Given the description of an element on the screen output the (x, y) to click on. 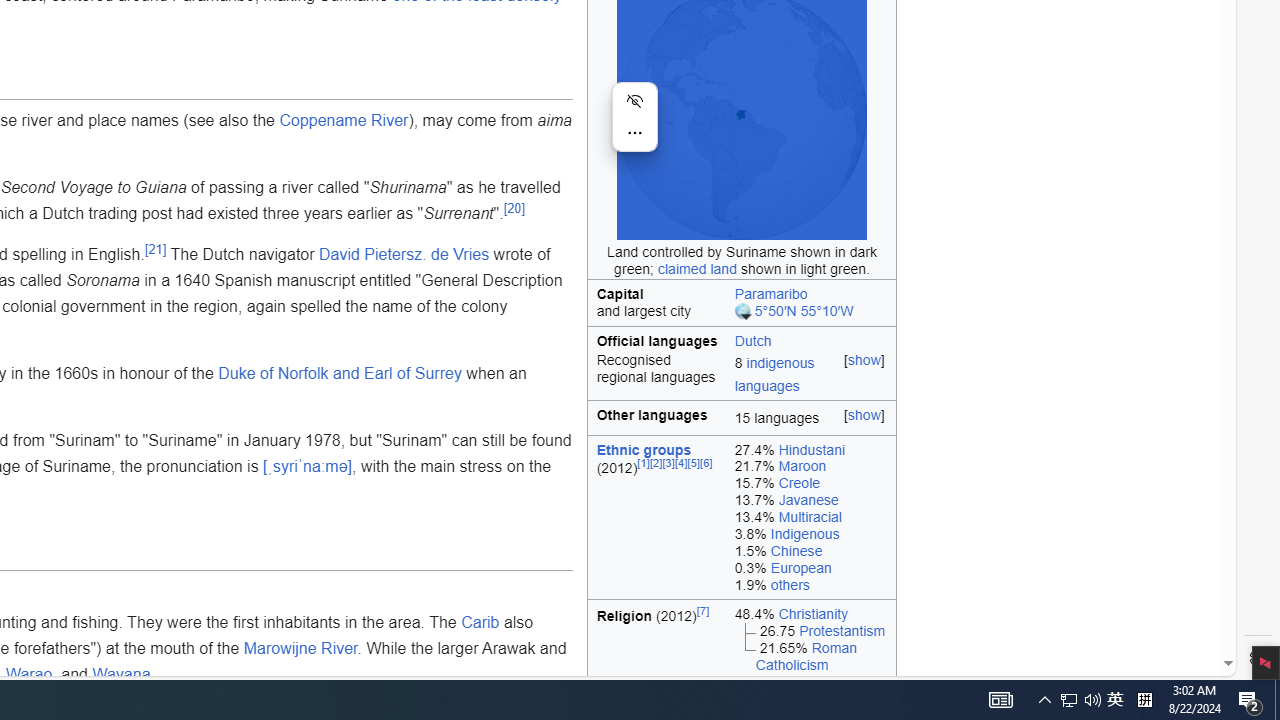
[20] (514, 208)
[show] 15 languages (811, 418)
13.7% Javanese (810, 500)
Warao (28, 674)
Protestantism (841, 630)
[5] (694, 463)
Capital and largest city (657, 302)
3.8% Indigenous (810, 534)
Maroon (802, 466)
[1] (643, 463)
13.4% Multiracial (810, 518)
More actions (634, 132)
